Given the description of an element on the screen output the (x, y) to click on. 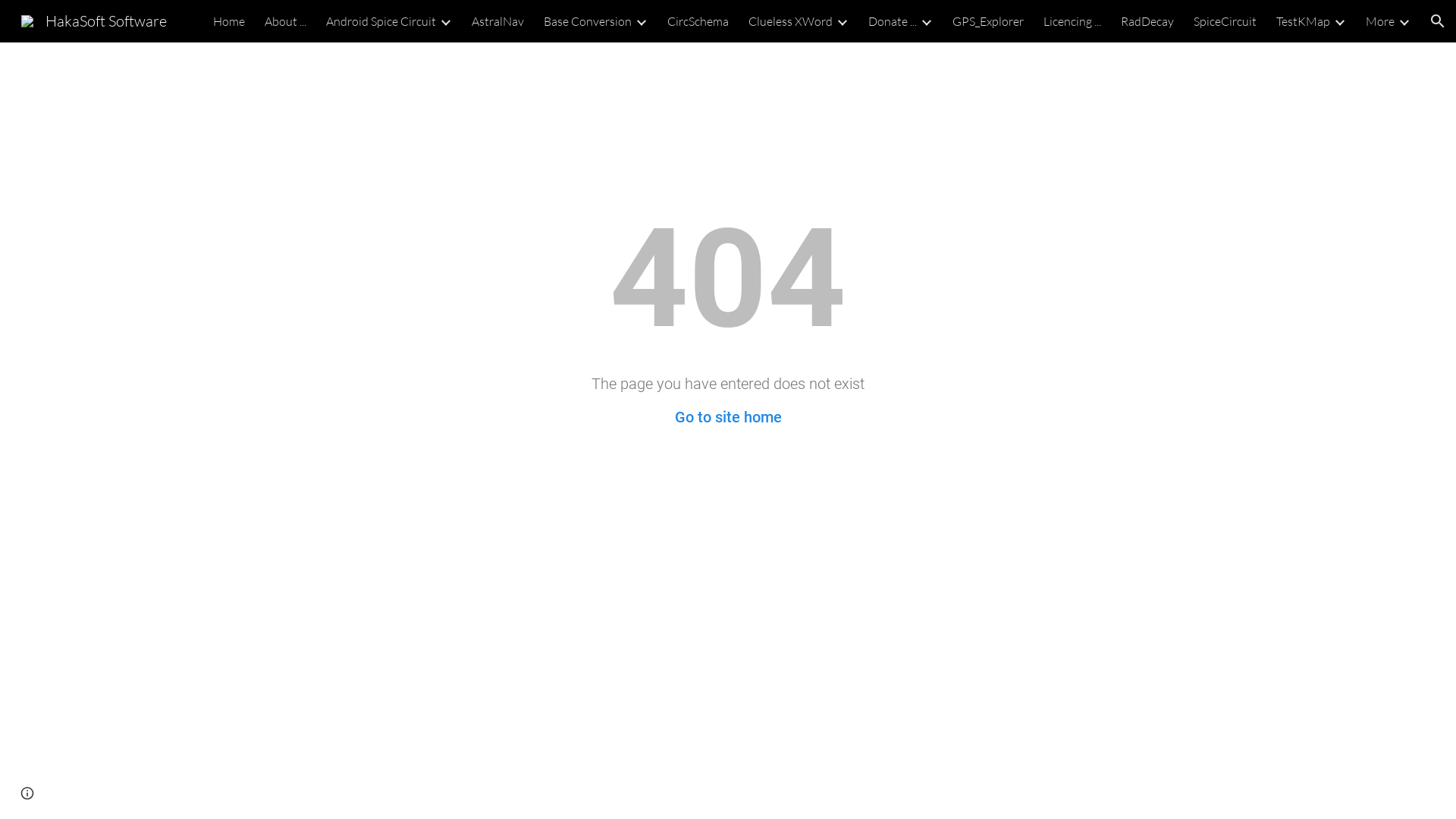
Clueless XWord Element type: text (790, 20)
AstralNav Element type: text (497, 20)
CircSchema Element type: text (697, 20)
SpiceCircuit Element type: text (1224, 20)
RadDecay Element type: text (1146, 20)
Home Element type: text (228, 20)
About ... Element type: text (285, 20)
Expand/Collapse Element type: hover (1403, 20)
Expand/Collapse Element type: hover (841, 20)
TestKMap Element type: text (1303, 20)
HakaSoft Software Element type: text (93, 18)
Expand/Collapse Element type: hover (1339, 20)
Licencing ... Element type: text (1072, 20)
GPS_Explorer Element type: text (987, 20)
Donate ... Element type: text (892, 20)
Base Conversion Element type: text (587, 20)
Go to site home Element type: text (727, 416)
Expand/Collapse Element type: hover (444, 20)
More Element type: text (1379, 20)
Expand/Collapse Element type: hover (925, 20)
Android Spice Circuit Element type: text (381, 20)
Expand/Collapse Element type: hover (640, 20)
